Given the description of an element on the screen output the (x, y) to click on. 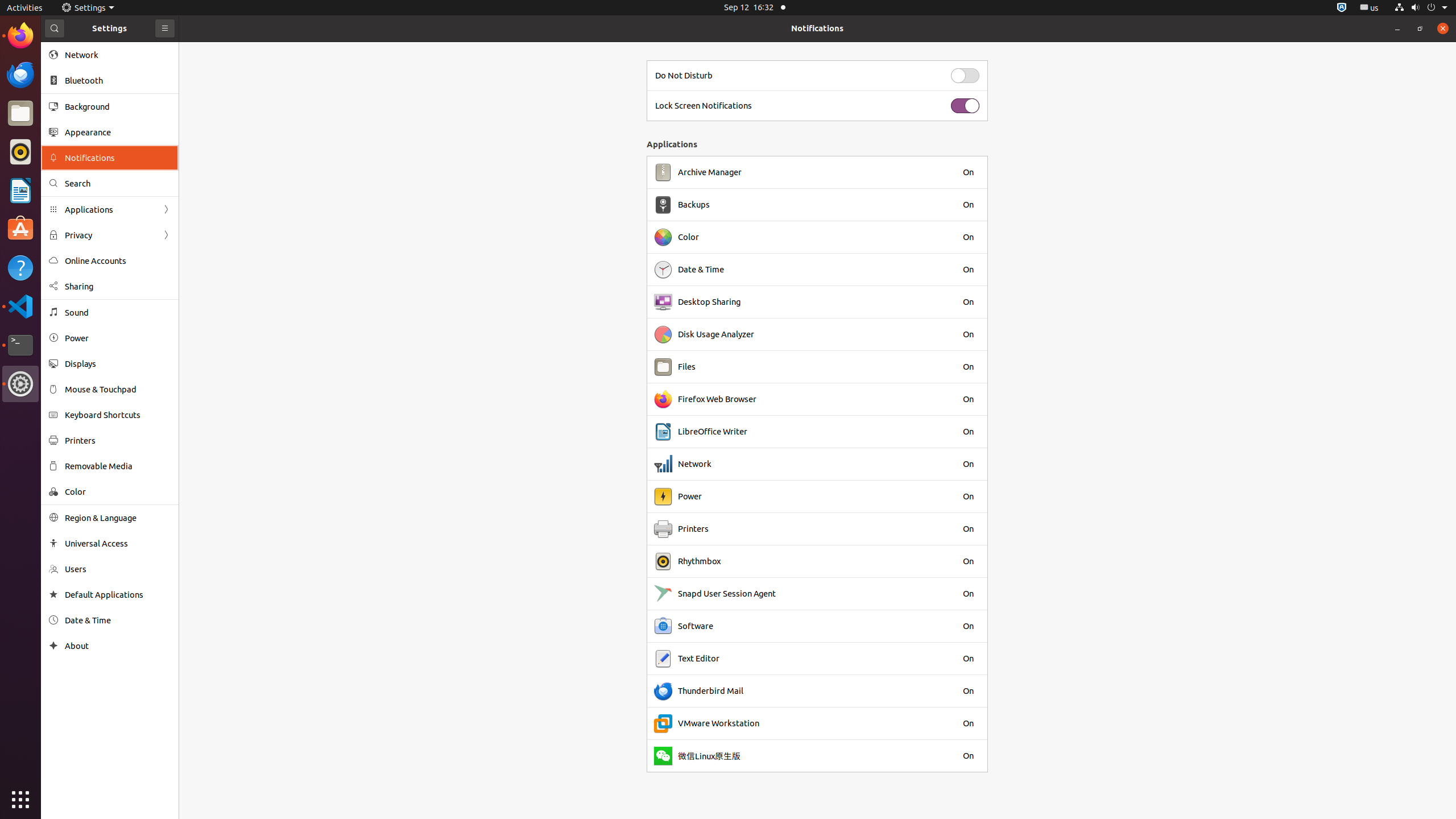
Desktop Sharing Element type: label (708, 301)
Printers Element type: label (117, 440)
Bluetooth Element type: label (117, 80)
